Given the description of an element on the screen output the (x, y) to click on. 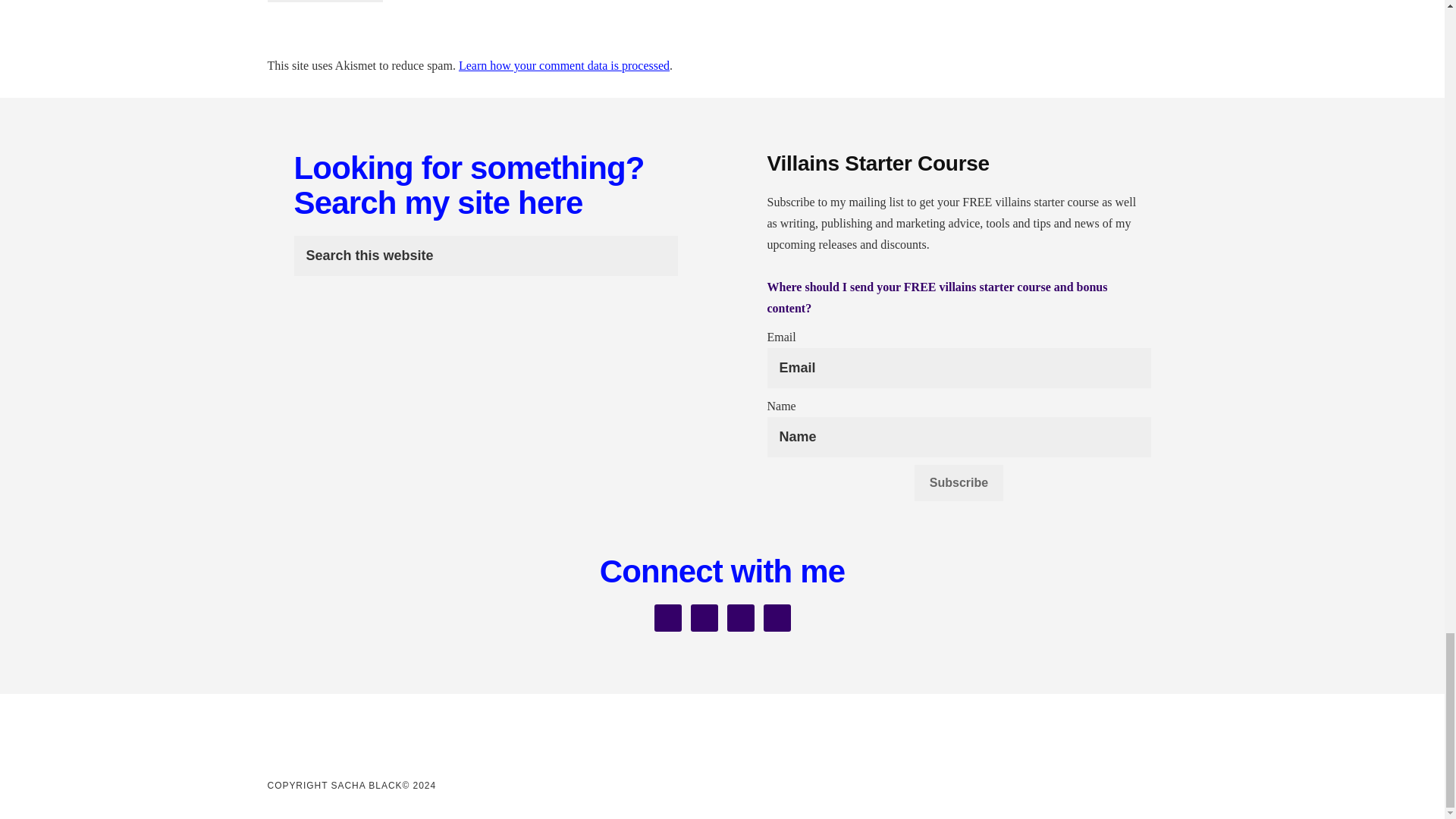
Post Comment (324, 1)
